Given the description of an element on the screen output the (x, y) to click on. 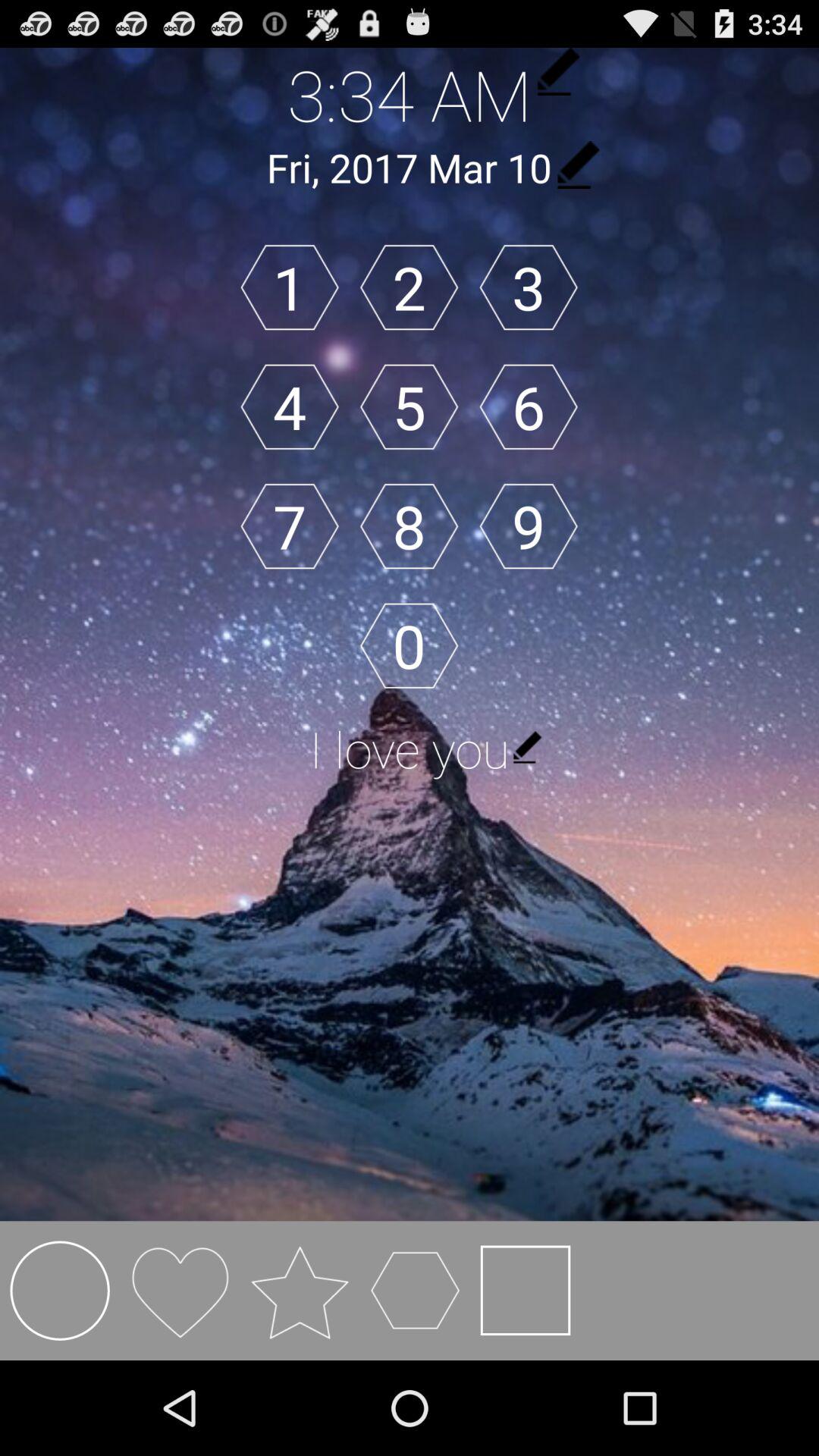
tap 8 (408, 526)
